Given the description of an element on the screen output the (x, y) to click on. 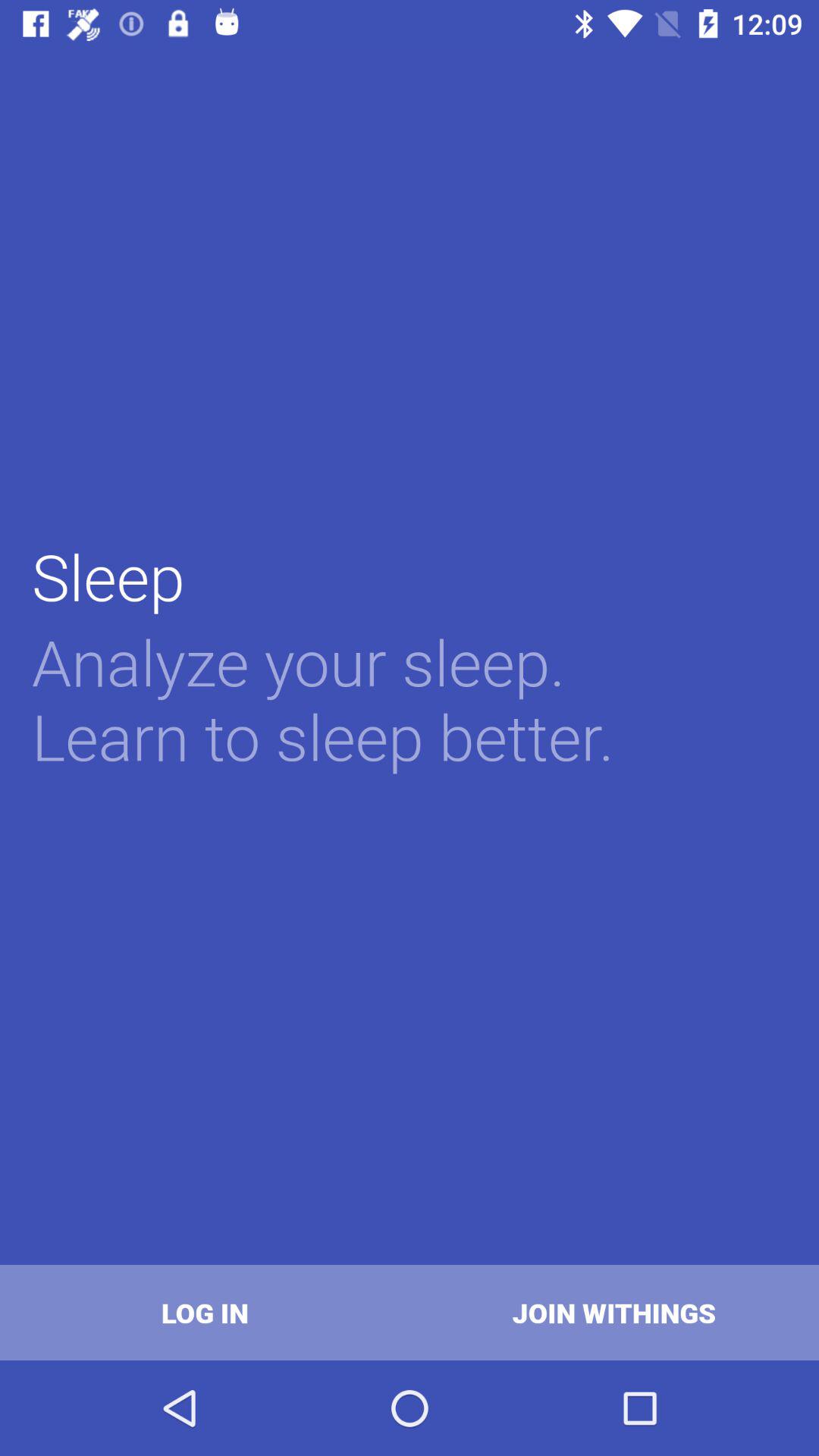
choose the icon to the left of join withings item (204, 1312)
